Given the description of an element on the screen output the (x, y) to click on. 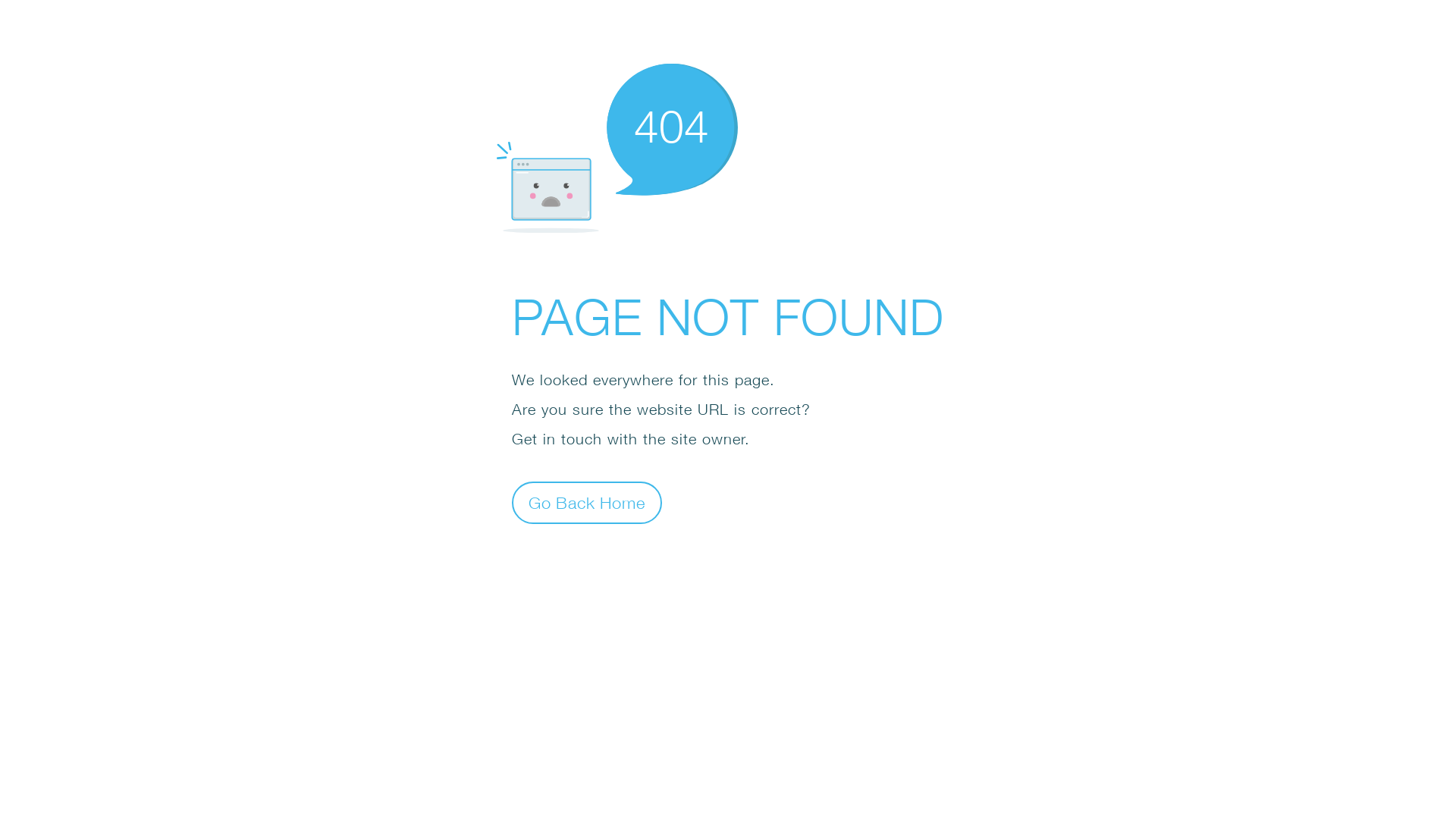
Go Back Home Element type: text (586, 502)
